Given the description of an element on the screen output the (x, y) to click on. 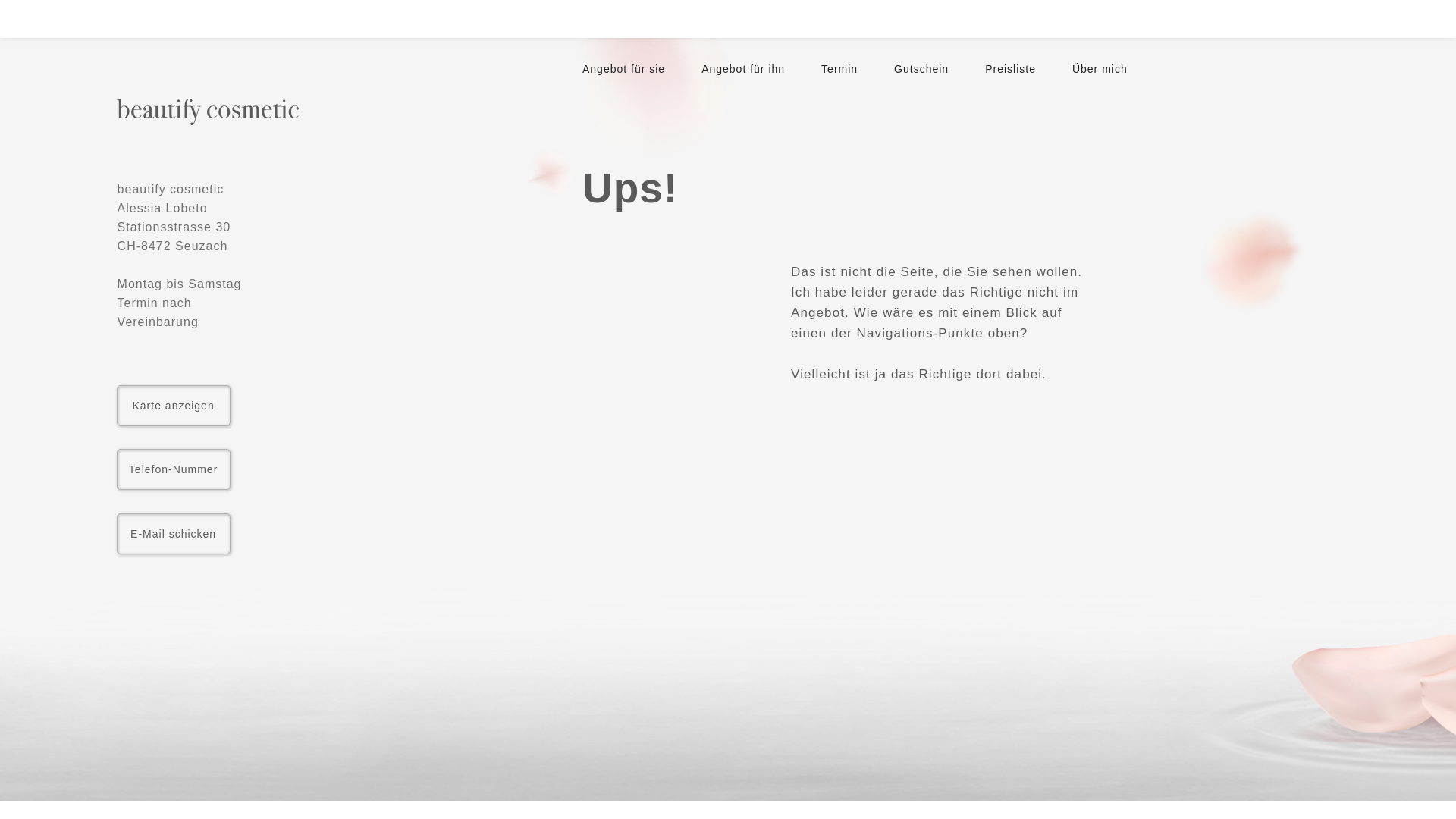
Termin Element type: text (842, 68)
Telefon-Nummer Element type: text (173, 468)
Gutschein Element type: text (924, 68)
Karte anzeigen Element type: text (173, 405)
Preisliste Element type: text (1013, 68)
E-Mail schicken Element type: text (173, 533)
